Given the description of an element on the screen output the (x, y) to click on. 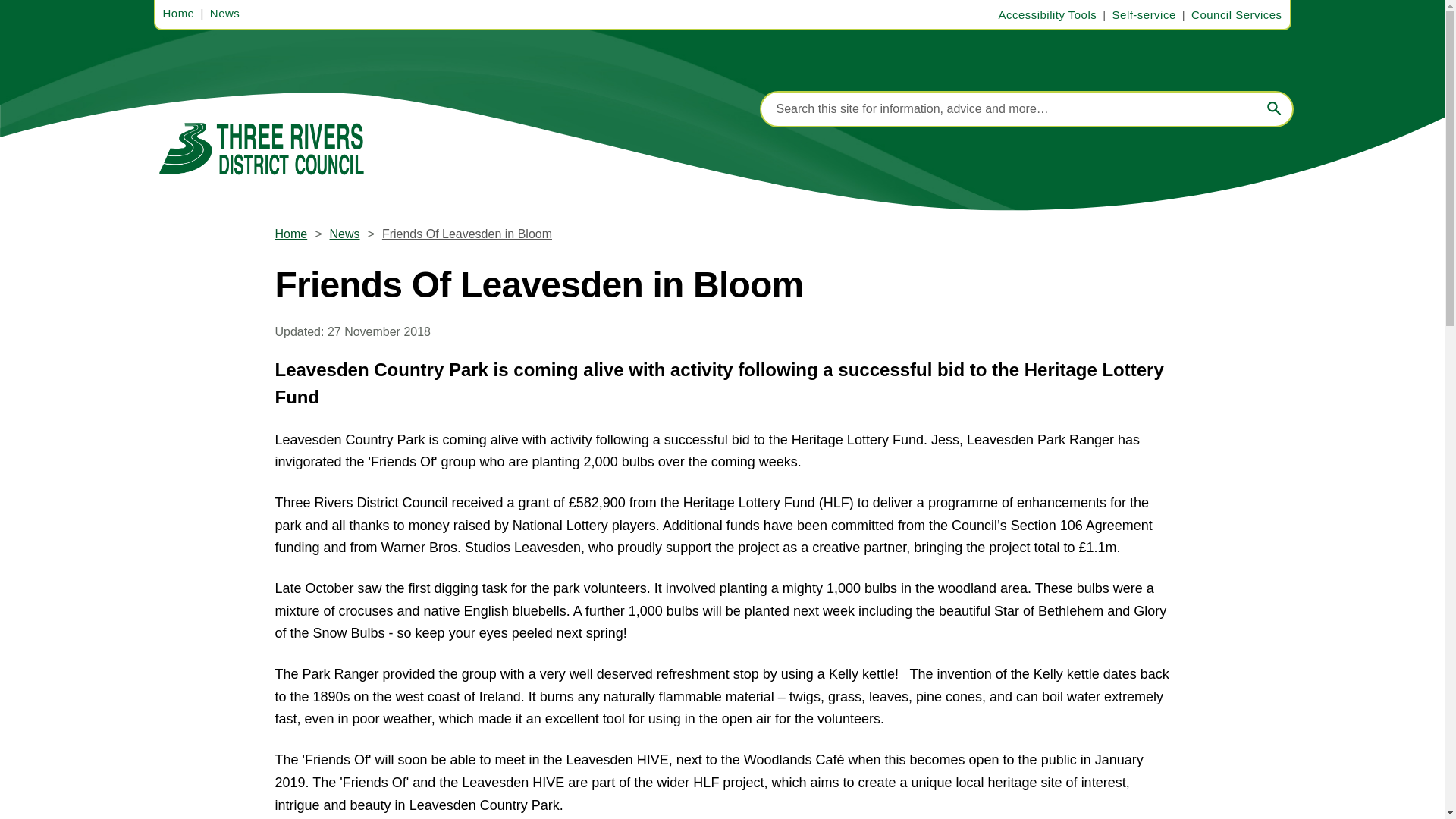
Self-service (1149, 14)
Accessibility Tools (1051, 14)
Home (182, 13)
News (227, 13)
Council Services (1236, 13)
